Given the description of an element on the screen output the (x, y) to click on. 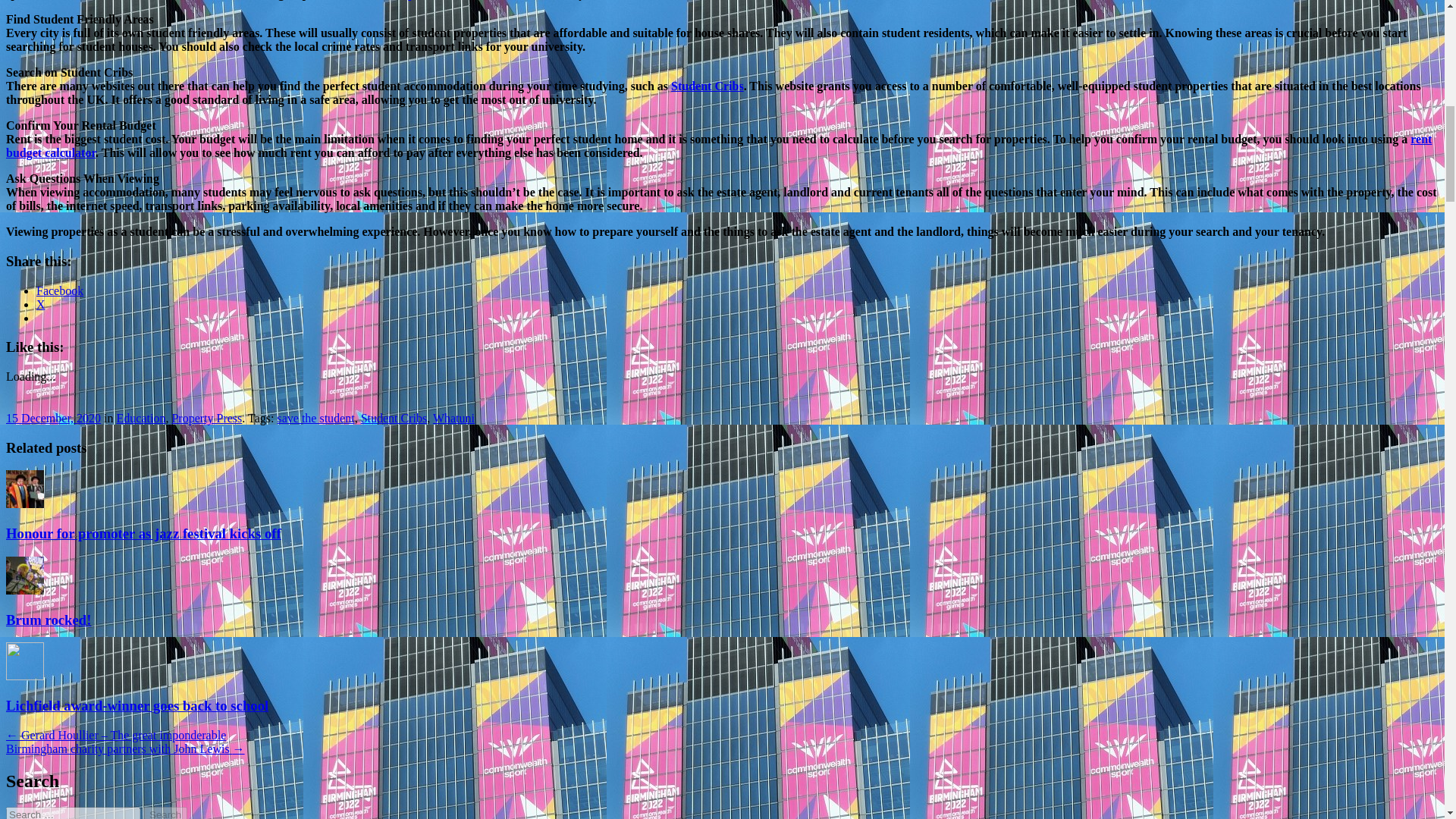
save the student (314, 418)
Whatuni (453, 418)
Property Press (206, 418)
Brum rocked! (47, 619)
Student Cribs (394, 418)
Education (140, 418)
Permalink to Brum rocked! (47, 619)
Lichfield award-winner goes back to school (136, 705)
15 December, 2020 (52, 418)
Click to share on X (40, 303)
Search (164, 812)
Search (164, 812)
Facebook (59, 289)
Click to share on Facebook (59, 289)
X (40, 303)
